Given the description of an element on the screen output the (x, y) to click on. 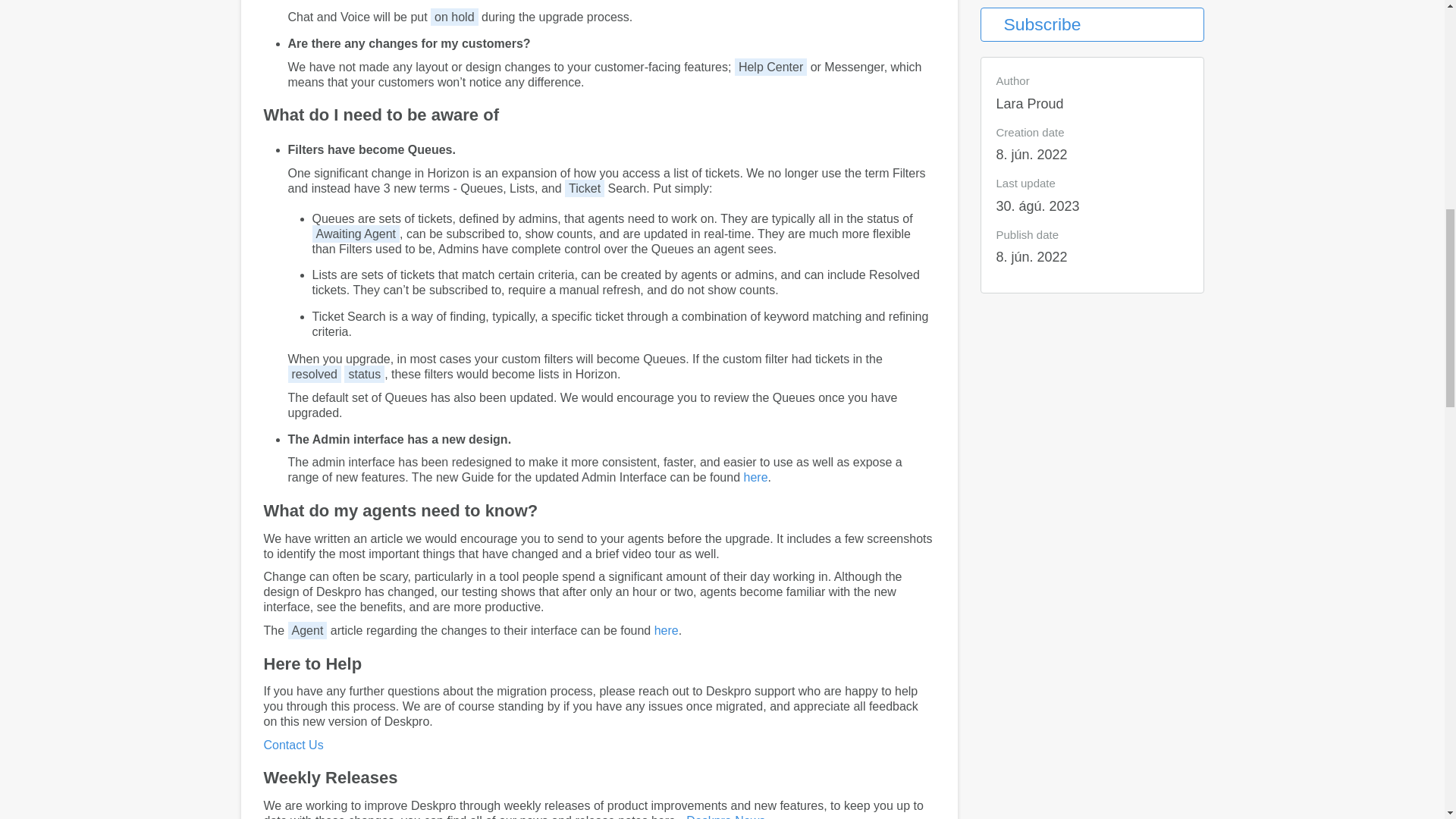
here (754, 477)
